Given the description of an element on the screen output the (x, y) to click on. 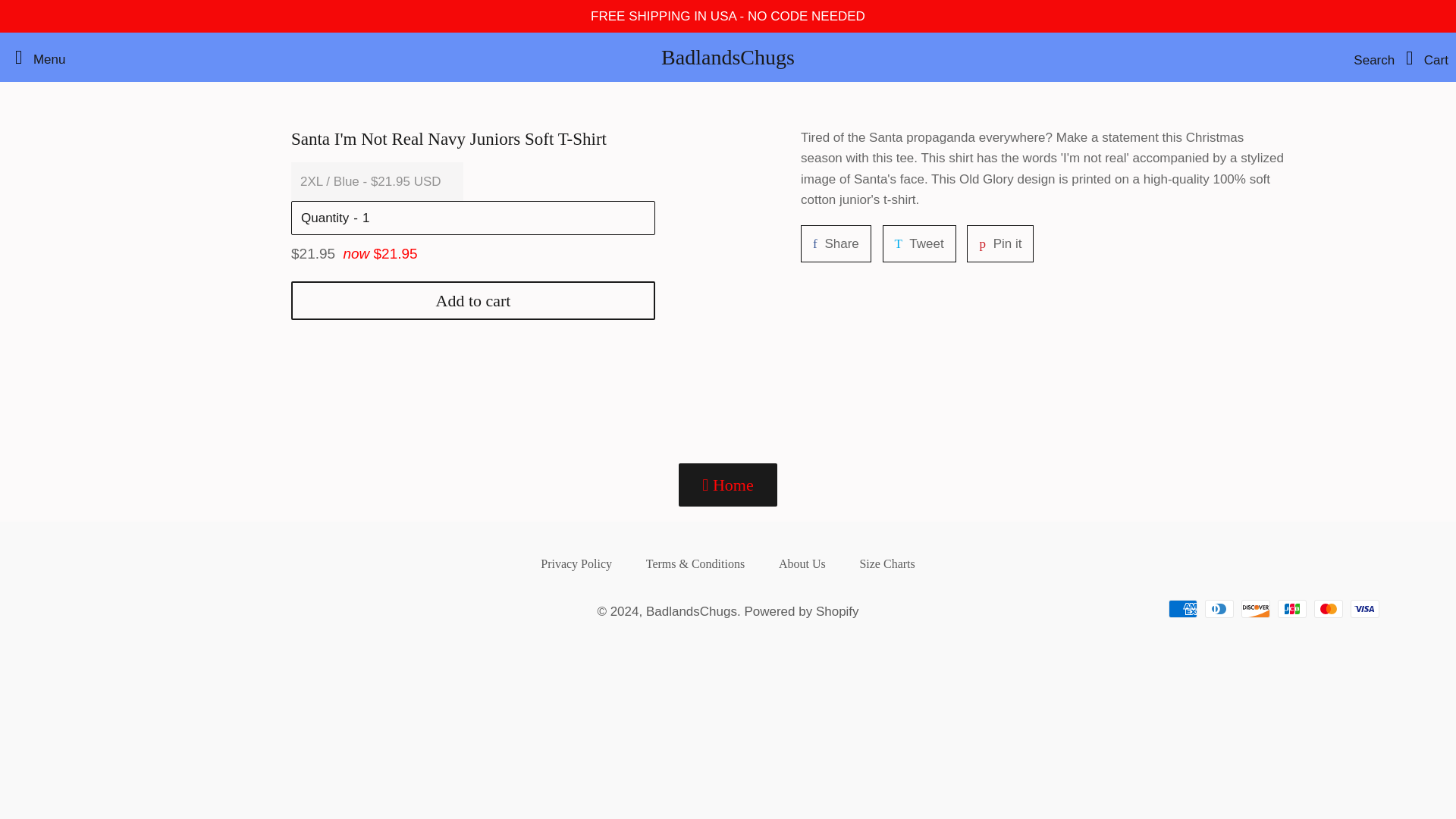
Discover (912, 408)
Privacy Policy (1245, 814)
BadlandsChugs (570, 774)
Pin on Pinterest (685, 816)
JCB (993, 408)
Share on Facebook (1282, 814)
Diners Club (829, 408)
1 (993, 408)
